Given the description of an element on the screen output the (x, y) to click on. 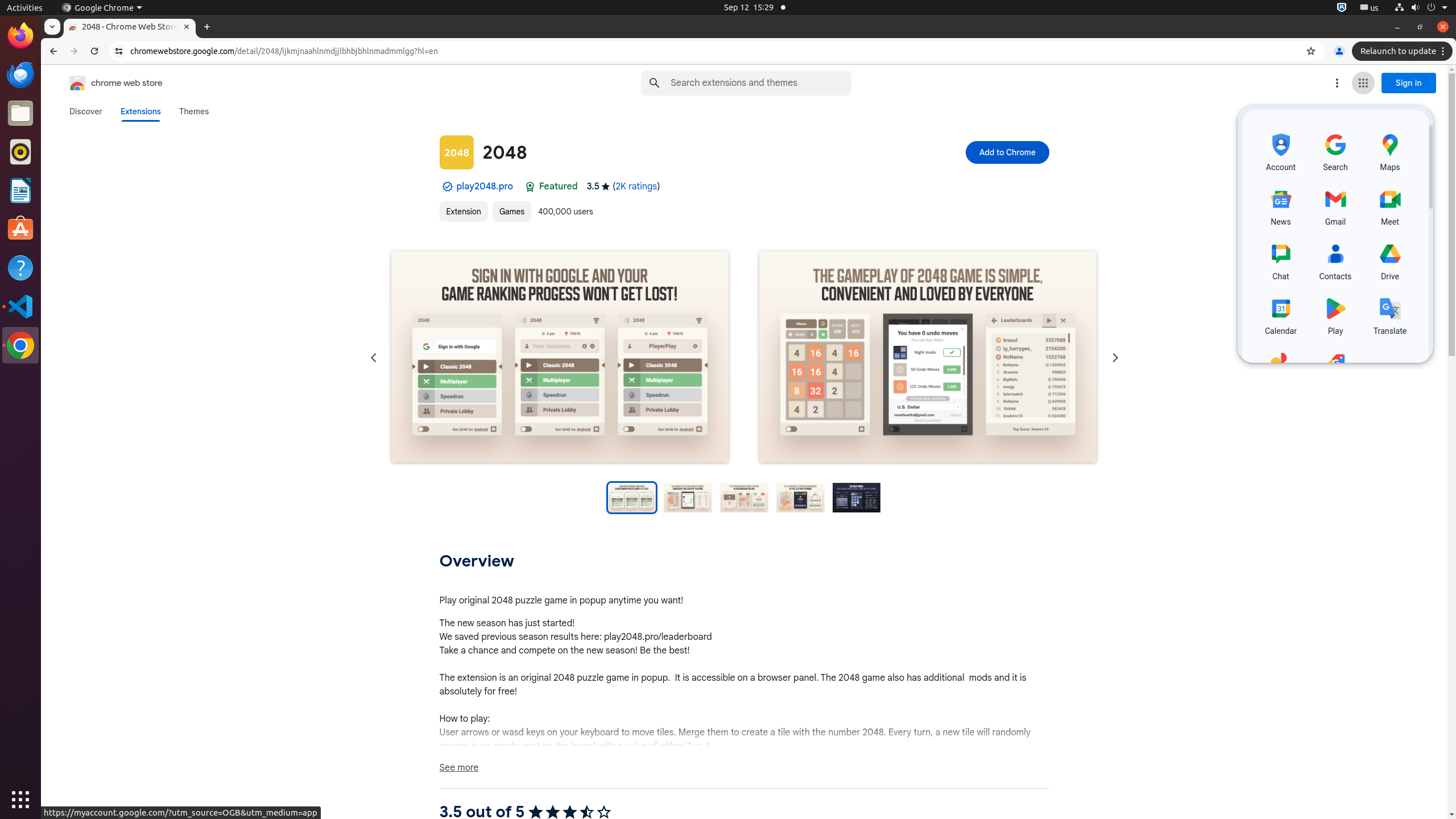
Preview slide 4 Element type: push-button (800, 497)
System Element type: menu (1420, 7)
Firefox Web Browser Element type: push-button (20, 35)
More options menu Element type: push-button (1336, 82)
Rhythmbox Element type: push-button (20, 151)
